Given the description of an element on the screen output the (x, y) to click on. 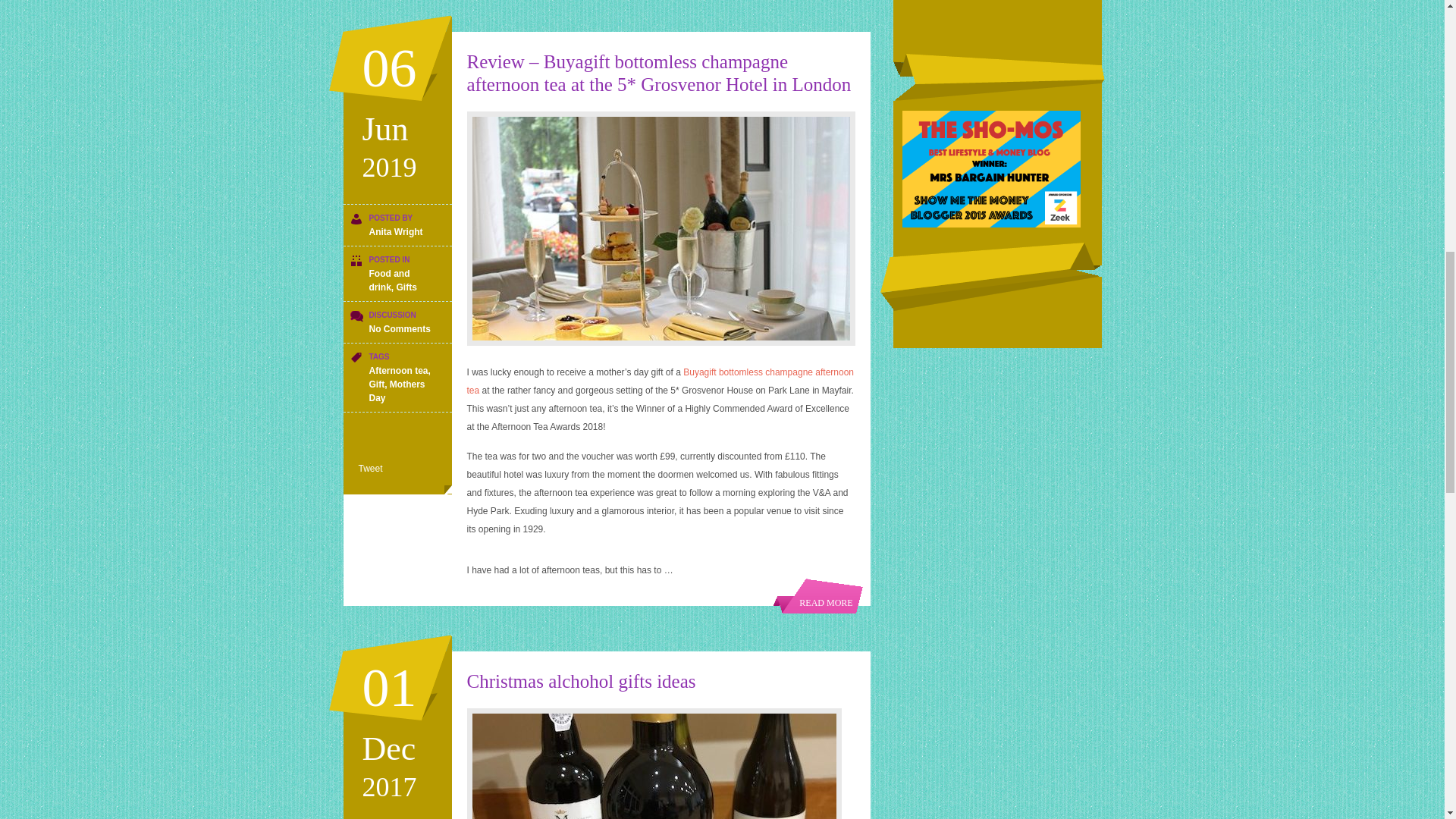
Posts by Anita Wright (395, 231)
Afternoon tea (398, 370)
Gifts (406, 286)
Anita Wright (395, 231)
Tweet (369, 468)
Gift (376, 384)
Buyagift bottomless champagne afternoon tea (660, 380)
Read the full post (817, 595)
Food and drink (388, 280)
Mothers Day (396, 391)
Read the full post (659, 73)
Read the full post (661, 228)
